Given the description of an element on the screen output the (x, y) to click on. 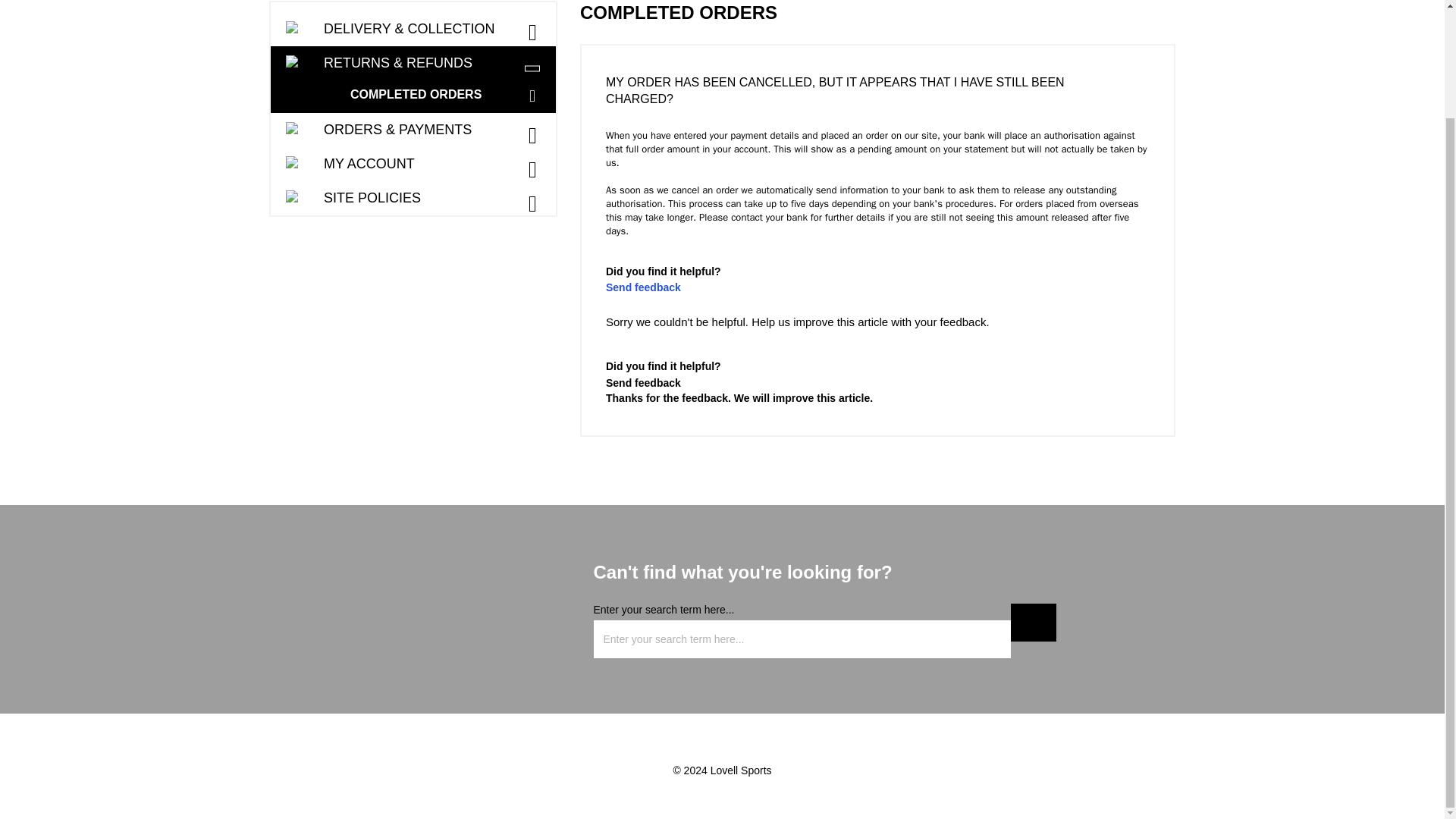
MY ACCOUNT (413, 163)
COMPLETED ORDERS (449, 94)
Send feedback (643, 382)
Send feedback (643, 287)
SITE POLICIES (413, 197)
